Given the description of an element on the screen output the (x, y) to click on. 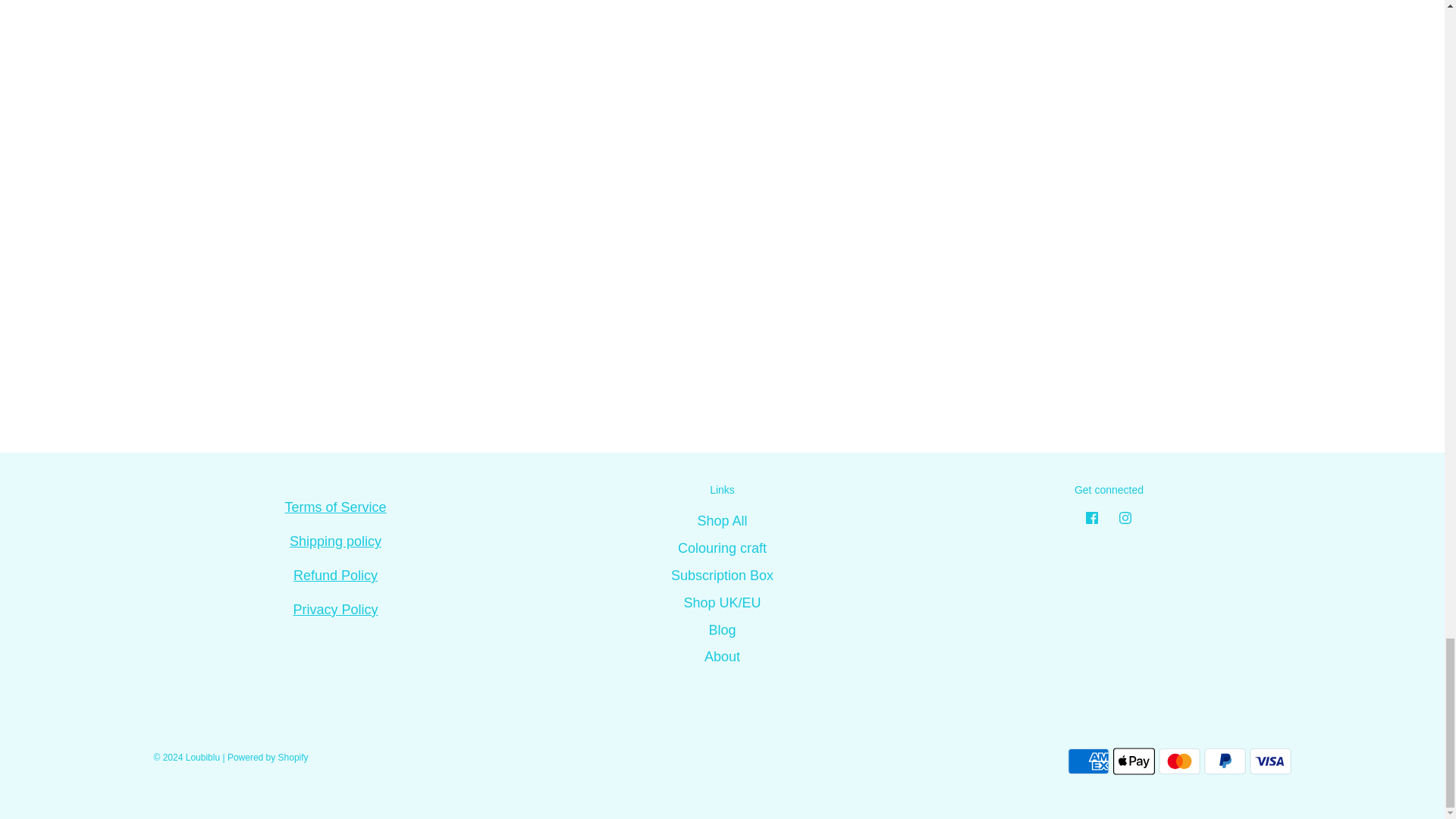
Visa (1270, 761)
Refund Policy (335, 575)
PayPal (1225, 761)
Shipping Policy (335, 540)
Mastercard (1178, 761)
Terms of Service (334, 507)
Privacy Policy (334, 609)
Apple Pay (1133, 761)
American Express (1088, 761)
